Given the description of an element on the screen output the (x, y) to click on. 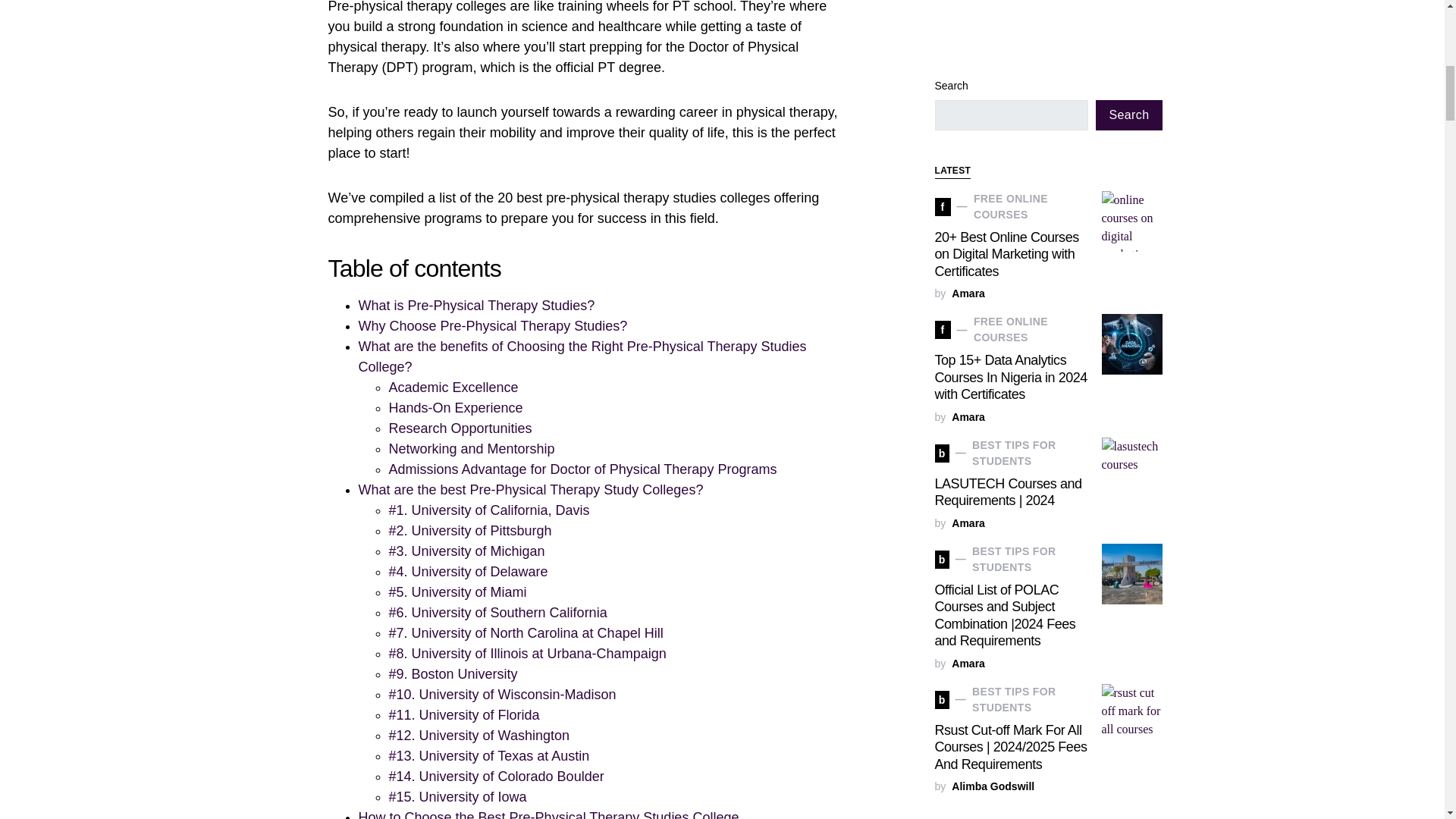
Hands-On Experience (455, 407)
Why Choose Pre-Physical Therapy Studies? (492, 325)
Admissions Advantage for Doctor of Physical Therapy Programs (582, 468)
Networking and Mentorship (471, 448)
What is Pre-Physical Therapy Studies? (476, 305)
Academic Excellence (453, 387)
Research Opportunities (459, 427)
What are the best Pre-Physical Therapy Study Colleges? (530, 489)
